Given the description of an element on the screen output the (x, y) to click on. 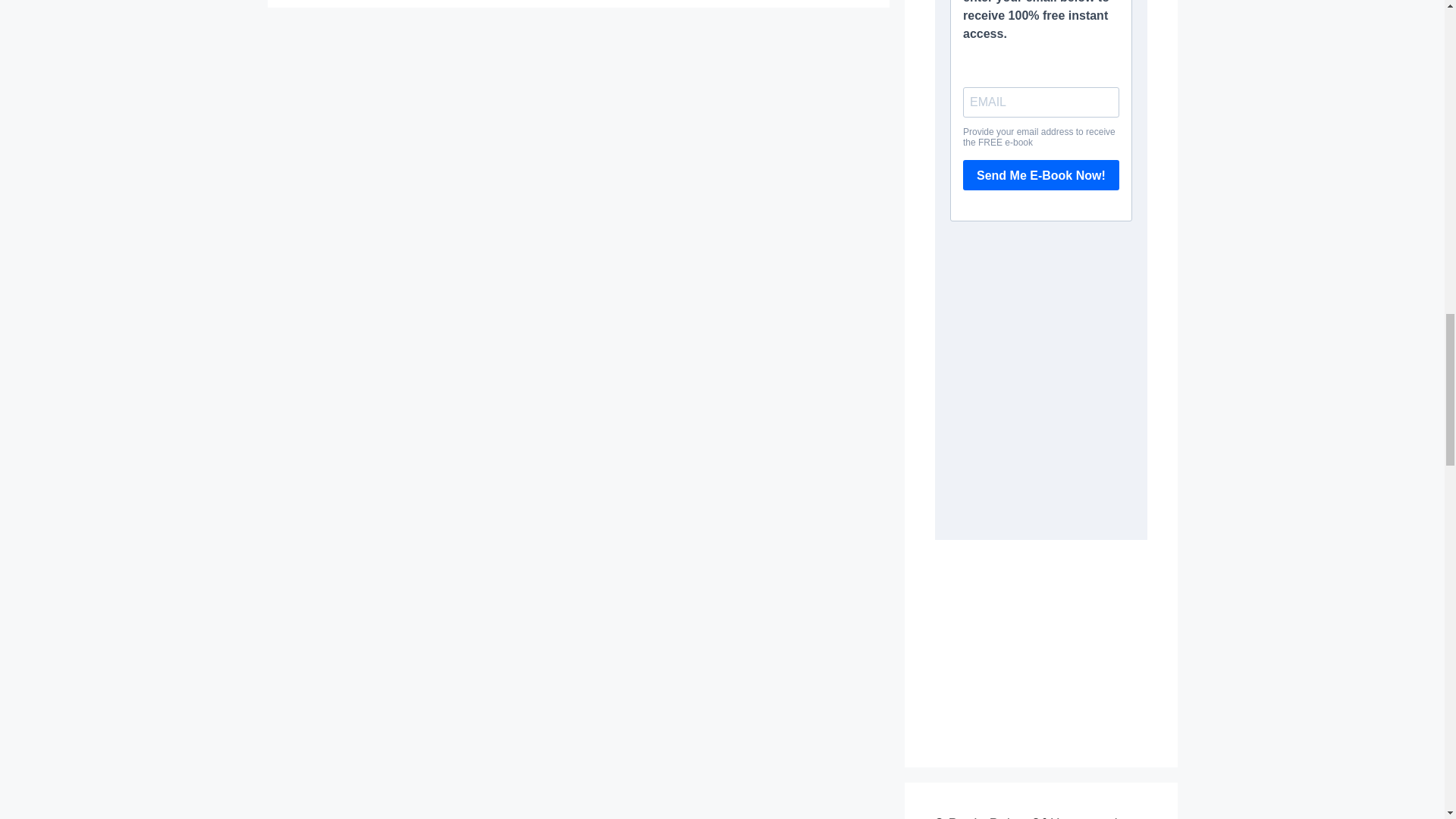
Advertisement (1040, 638)
